Given the description of an element on the screen output the (x, y) to click on. 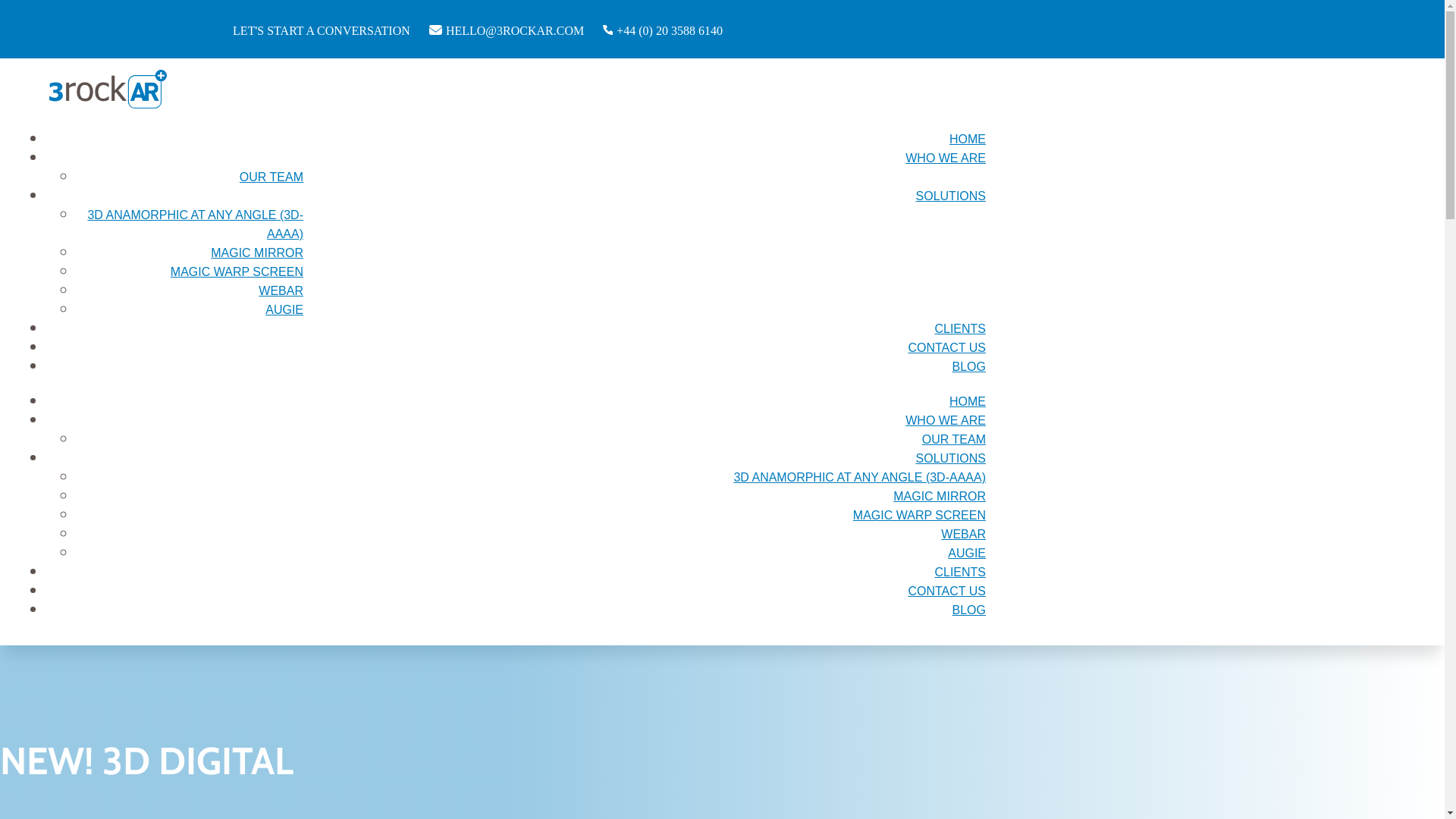
HELLO@3ROCKAR.COM Element type: text (514, 28)
+44 (0) 20 3588 6140 Element type: text (669, 28)
CONTACT US Element type: text (946, 590)
HOME Element type: text (967, 138)
AUGIE Element type: text (966, 552)
MAGIC MIRROR Element type: text (256, 252)
SOLUTIONS Element type: text (950, 195)
CLIENTS Element type: text (959, 571)
OUR TEAM Element type: text (953, 439)
3D ANAMORPHIC AT ANY ANGLE (3D-AAAA) Element type: text (195, 224)
WEBAR Element type: text (280, 290)
WHO WE ARE Element type: text (945, 420)
AUGIE Element type: text (284, 309)
BLOG Element type: text (968, 609)
CLIENTS Element type: text (959, 328)
MAGIC WARP SCREEN Element type: text (236, 271)
MAGIC WARP SCREEN Element type: text (919, 514)
CONTACT US Element type: text (946, 347)
3D ANAMORPHIC AT ANY ANGLE (3D-AAAA) Element type: text (859, 476)
BLOG Element type: text (968, 366)
SOLUTIONS Element type: text (950, 457)
MAGIC MIRROR Element type: text (939, 495)
HOME Element type: text (967, 401)
OUR TEAM Element type: text (271, 176)
WEBAR Element type: text (963, 533)
WHO WE ARE Element type: text (945, 157)
